Given the description of an element on the screen output the (x, y) to click on. 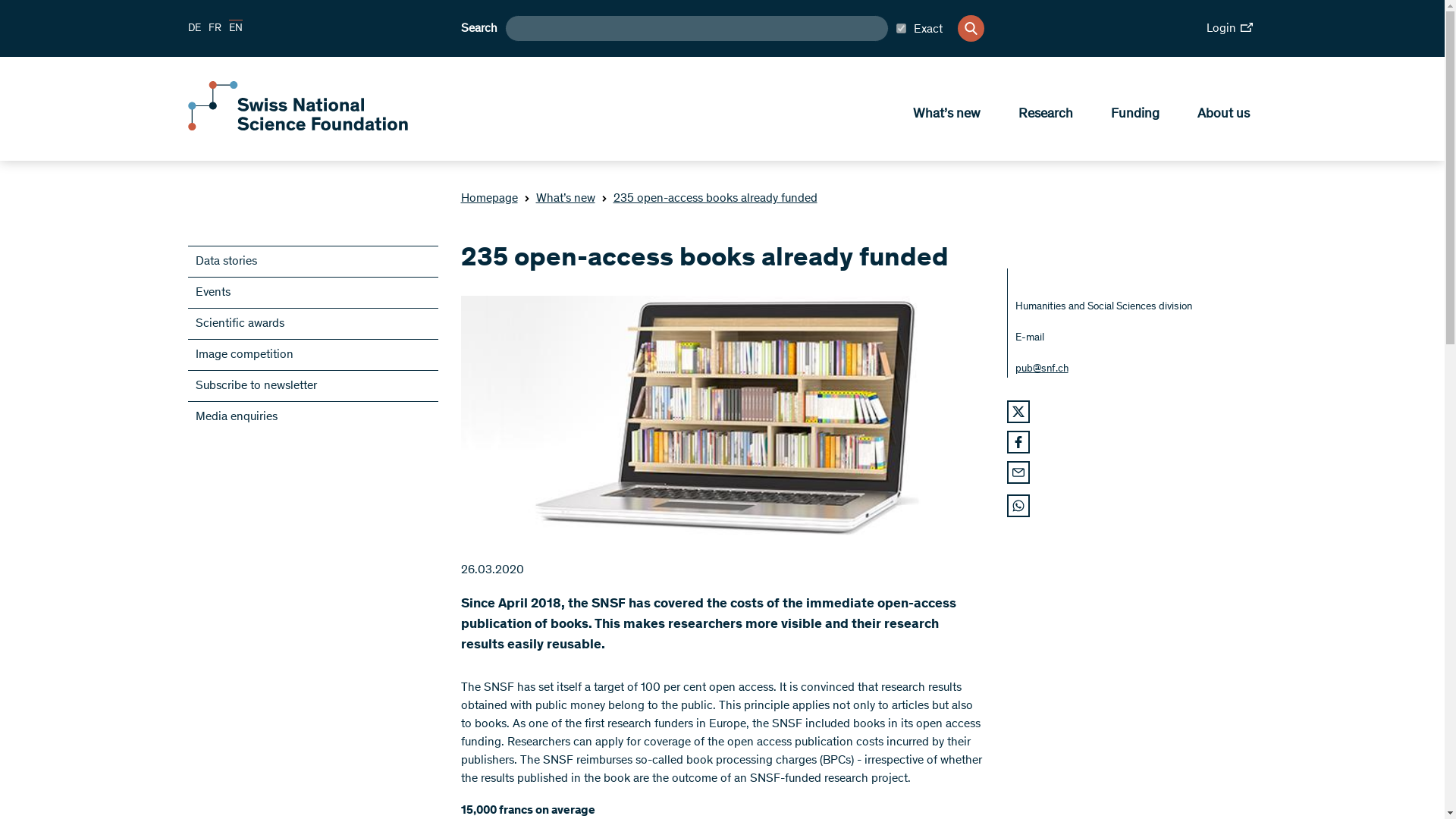
Share via Mail (1018, 472)
External Link Icon (1246, 27)
Exact (919, 28)
LoginExternal Link Icon (1230, 28)
Funding (1134, 111)
Facebook Icon (1017, 441)
About us (1222, 111)
WhatsApp Icon (1017, 505)
Arrow Icon (525, 198)
Logo (297, 127)
Arrow Icon (603, 198)
Research (1045, 111)
Logo (297, 105)
